Given the description of an element on the screen output the (x, y) to click on. 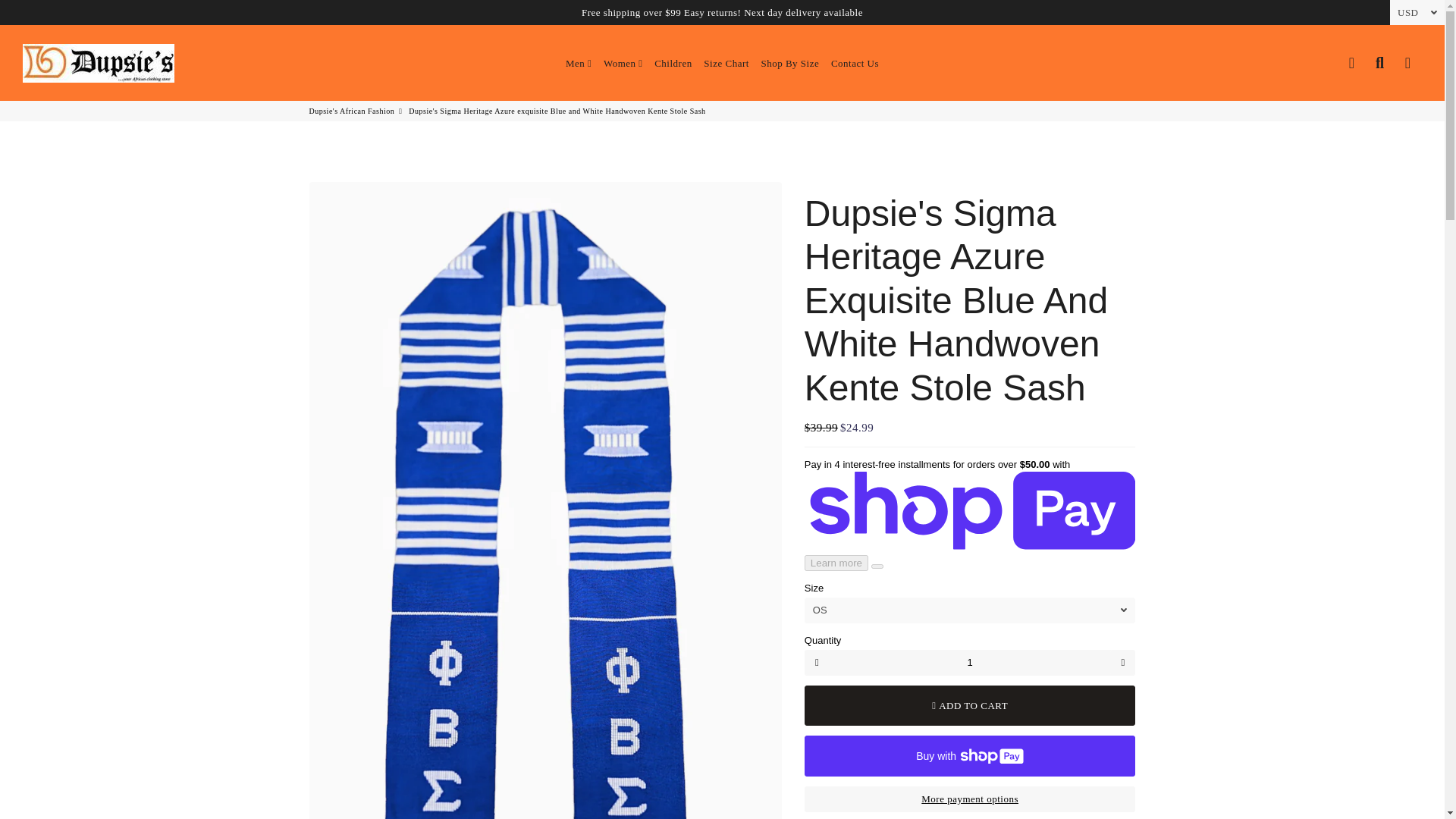
1 (970, 662)
